Given the description of an element on the screen output the (x, y) to click on. 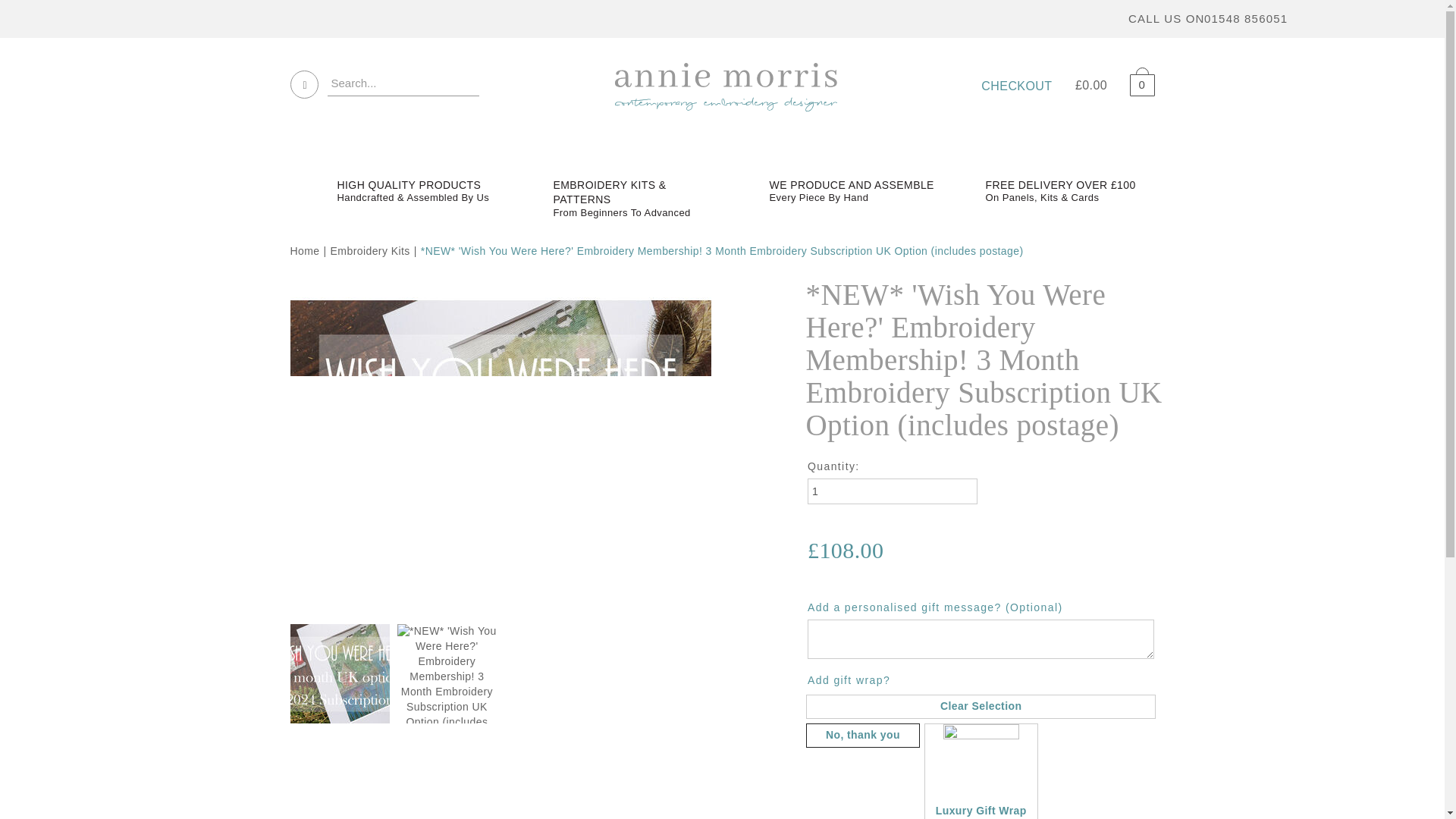
Read our Blog (1344, 17)
Follow us on Pinterest (1377, 17)
Embroidery Kits (370, 250)
Home (303, 250)
CHECKOUT (1016, 85)
Follow us on Facebook (1309, 17)
Follow us on Instagram (1412, 17)
1 (892, 491)
Bag (1136, 82)
